Given the description of an element on the screen output the (x, y) to click on. 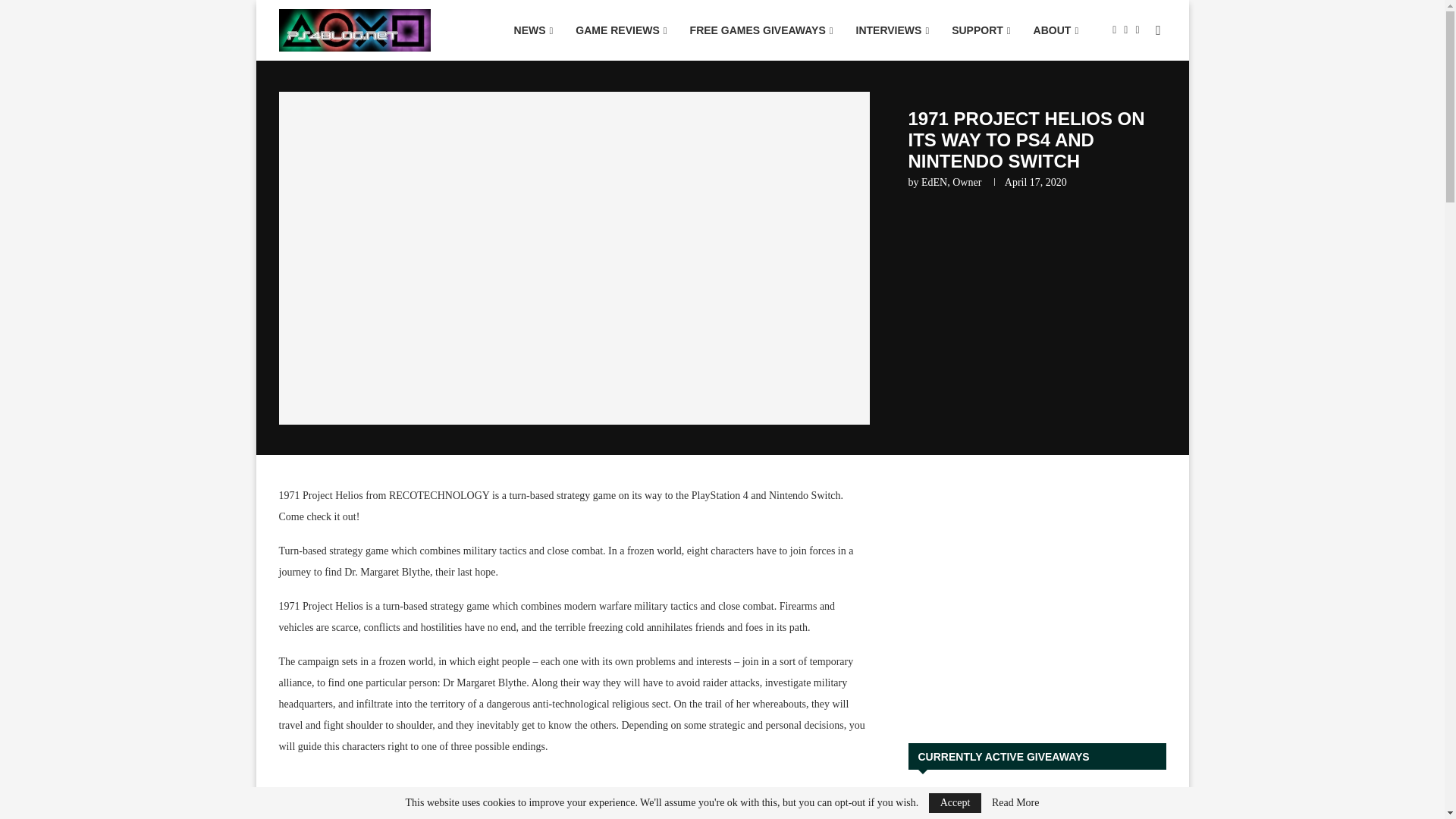
FREE GAMES GIVEAWAYS (761, 30)
INTERVIEWS (892, 30)
GAME REVIEWS (621, 30)
NEWS (533, 30)
